Given the description of an element on the screen output the (x, y) to click on. 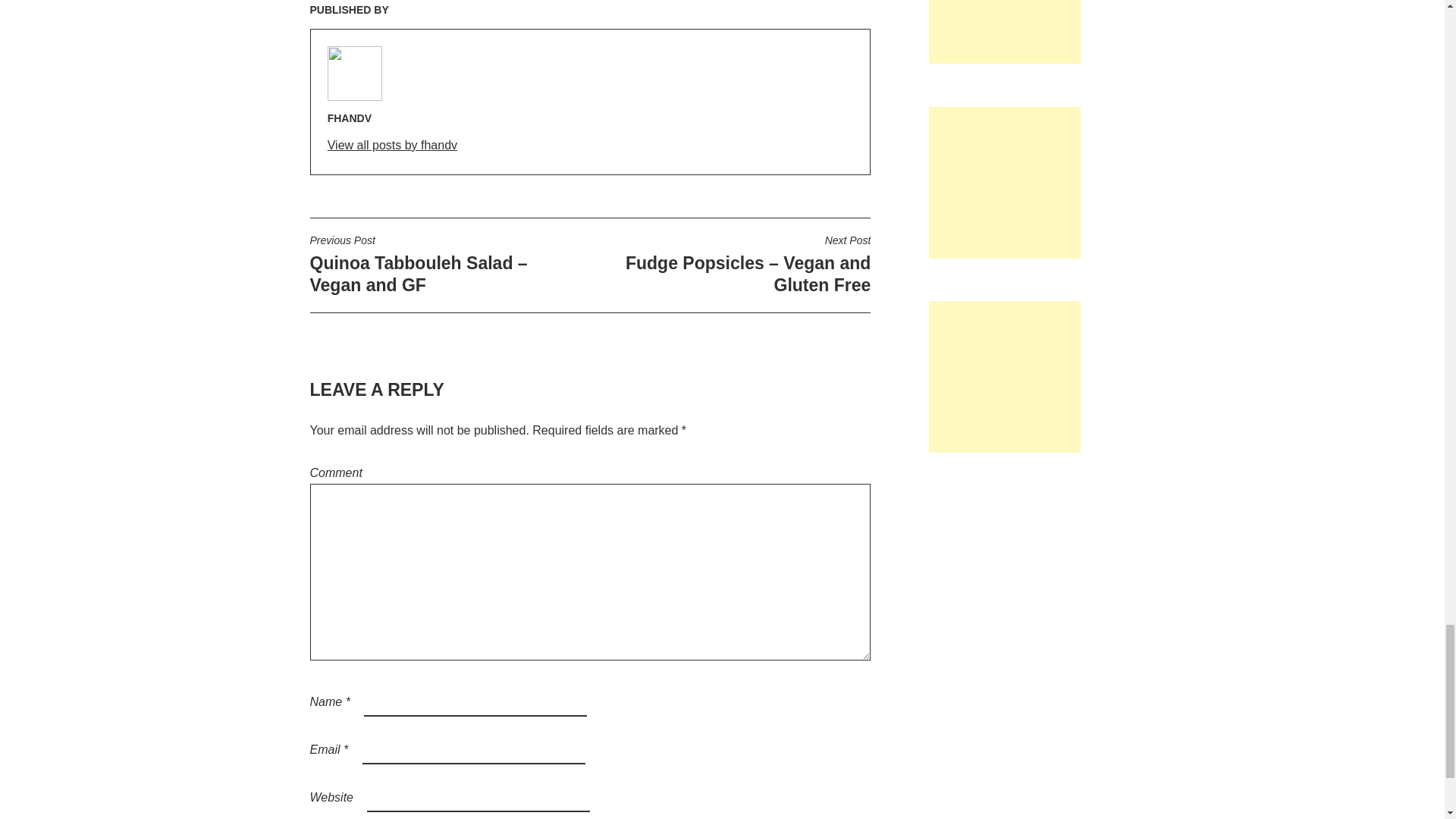
View all posts by fhandv (392, 146)
Advertisement (1004, 31)
